Given the description of an element on the screen output the (x, y) to click on. 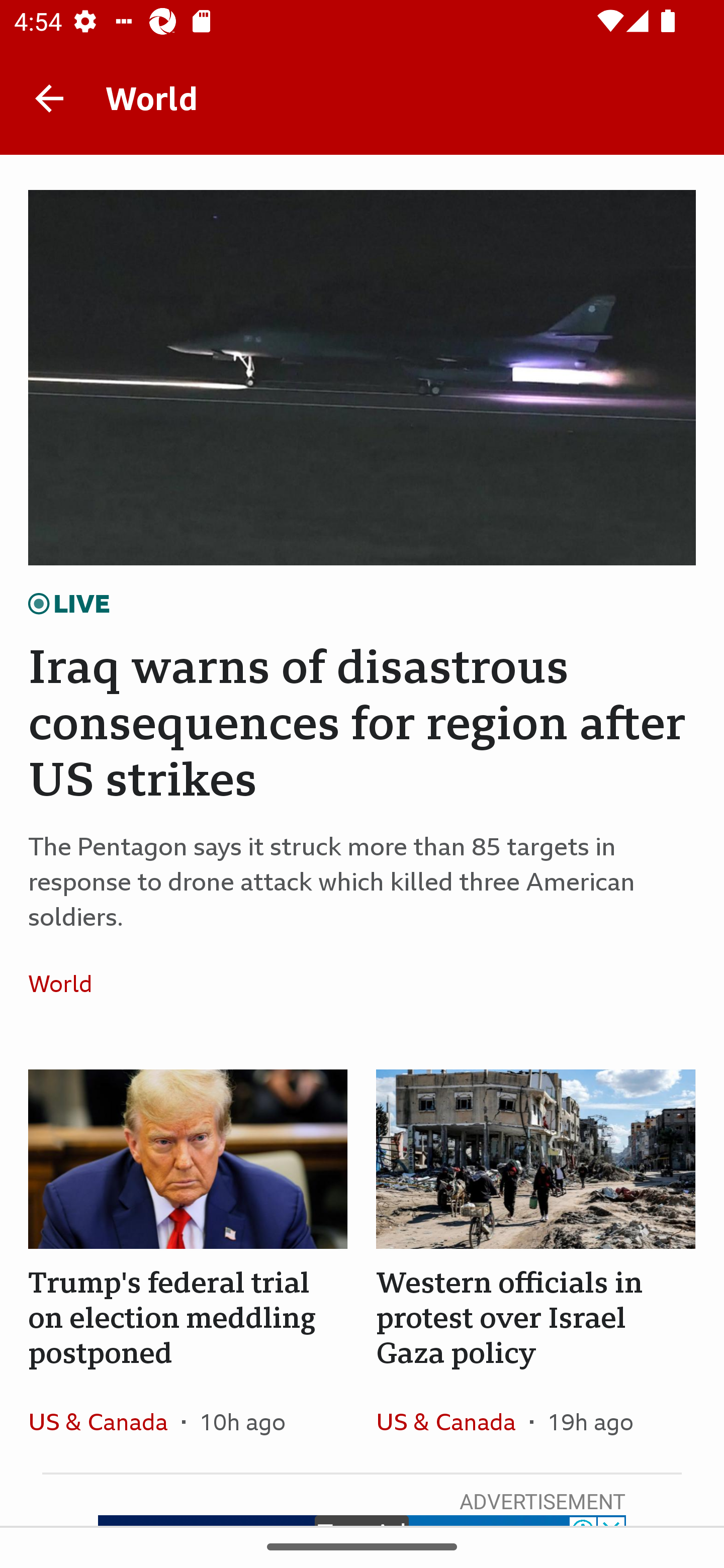
Back (49, 97)
World In the section World (67, 983)
US & Canada In the section US & Canada (104, 1421)
US & Canada In the section US & Canada (452, 1421)
